Given the description of an element on the screen output the (x, y) to click on. 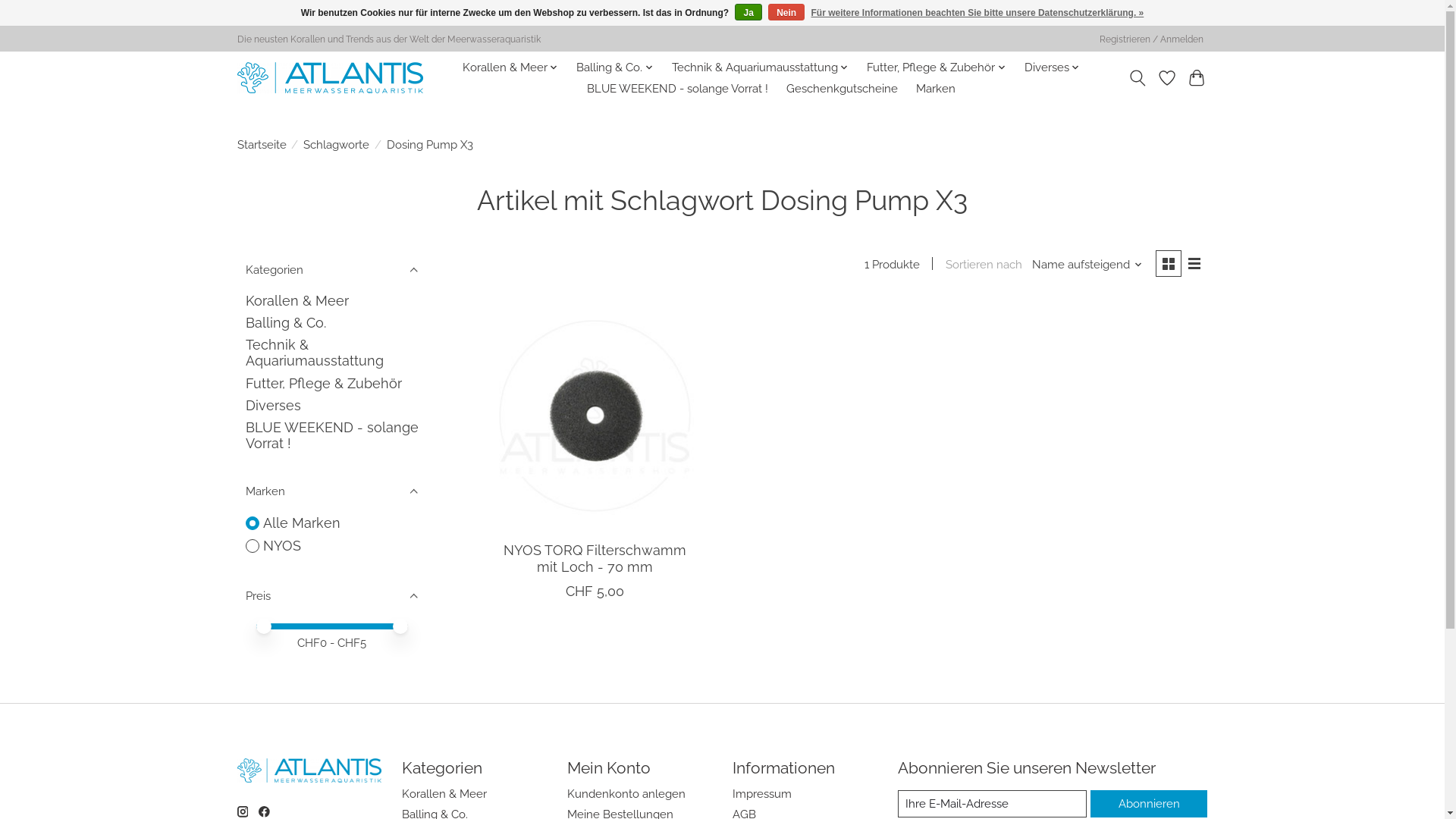
NYOS TORQ Filterschwamm mit Loch - 70 mm Element type: hover (594, 415)
Abonnieren Element type: text (1148, 803)
BLUE WEEKEND - solange Vorrat ! Element type: text (331, 435)
Name aufsteigend Element type: text (1087, 263)
Preis Element type: text (331, 595)
Korallen & Meer Element type: text (443, 793)
Schlagworte Element type: text (336, 144)
BLUE WEEKEND - solange Vorrat ! Element type: text (677, 88)
Nein Element type: text (786, 11)
Technik & Aquariumausstattung Element type: text (314, 352)
Kundenkonto anlegen Element type: text (626, 793)
Balling & Co. Element type: text (614, 67)
Marken Element type: text (331, 491)
NYOS TORQ Filterschwamm mit Loch - 70 mm Element type: text (594, 558)
Impressum Element type: text (761, 793)
Ihr Meerwasser Aquaristik Spezialist Element type: hover (329, 77)
Technik & Aquariumausstattung Element type: text (760, 67)
Geschenkgutscheine Element type: text (842, 88)
Kategorien Element type: text (331, 269)
Registrieren / Anmelden Element type: text (1151, 39)
Ja Element type: text (747, 11)
Diverses Element type: text (273, 405)
Balling & Co. Element type: text (285, 322)
Marken Element type: text (935, 88)
Korallen & Meer Element type: text (510, 67)
Diverses Element type: text (1051, 67)
Korallen & Meer Element type: text (296, 300)
Startseite Element type: text (260, 144)
